Given the description of an element on the screen output the (x, y) to click on. 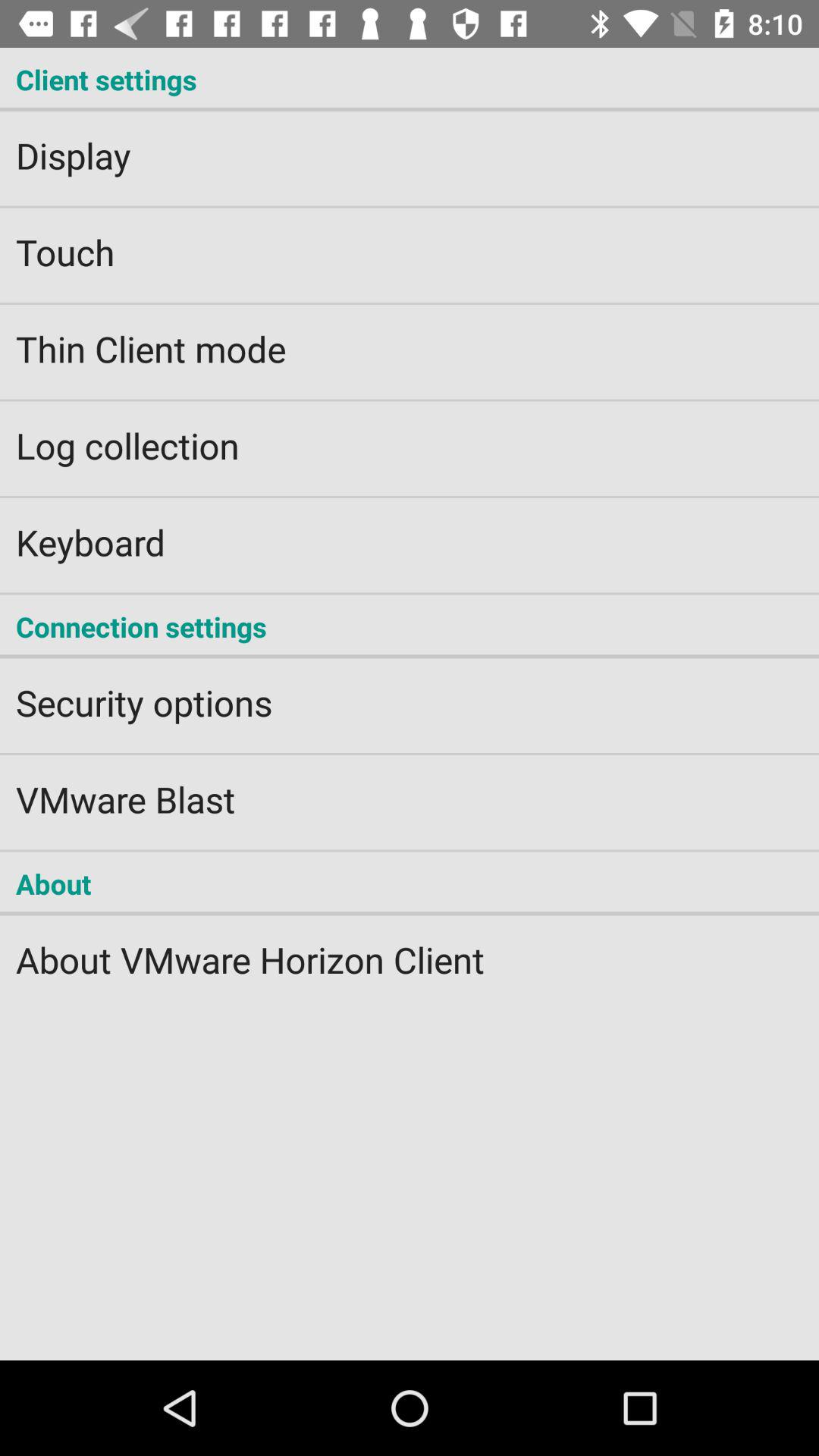
choose the client settings icon (409, 79)
